Given the description of an element on the screen output the (x, y) to click on. 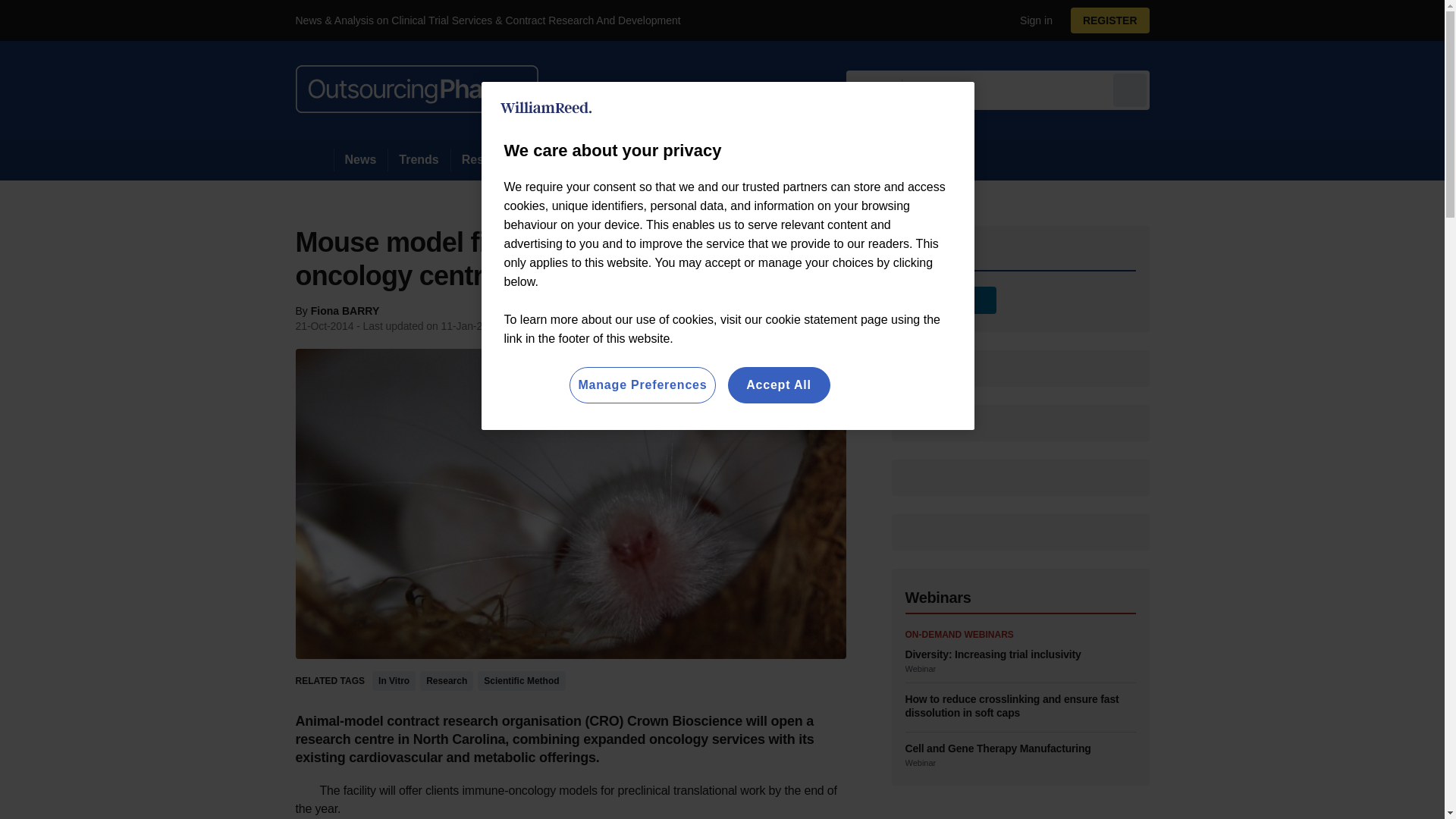
News (360, 159)
Send (1129, 89)
Home (313, 159)
Sign in (1029, 20)
REGISTER (1110, 20)
My account (1114, 20)
Sign out (1032, 20)
OutsourcingPharma (416, 89)
Home (314, 159)
Resources (492, 159)
Send (1129, 90)
Trends (418, 159)
William Reed (545, 107)
